Given the description of an element on the screen output the (x, y) to click on. 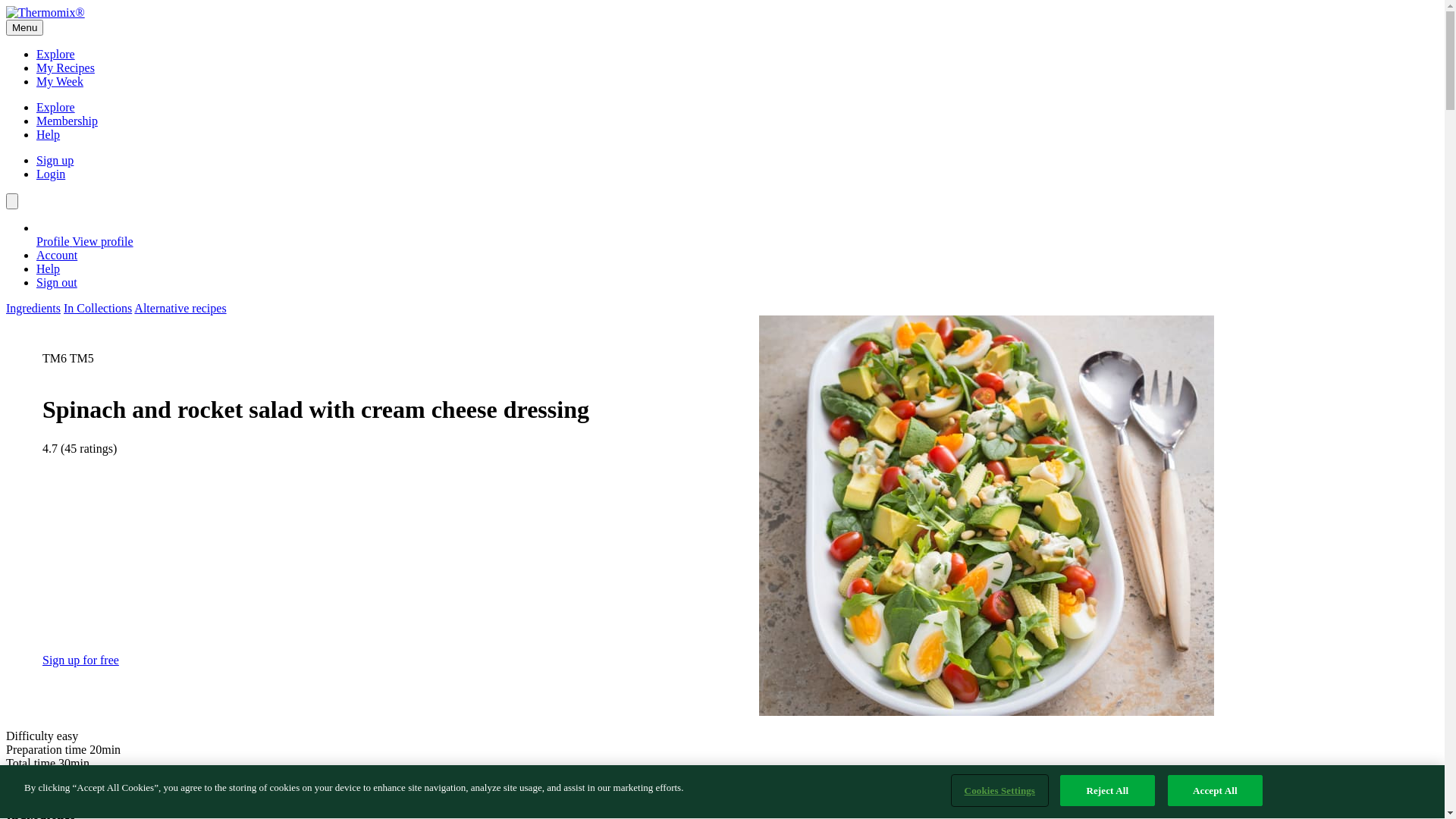
My Week Element type: text (59, 81)
Profile View profile Element type: text (737, 248)
Explore Element type: text (55, 106)
Sign out Element type: text (56, 282)
Accept All Element type: text (1214, 790)
Spinach and rocket salad with cream cheese dressing Element type: hover (985, 515)
Ingredients Element type: text (33, 307)
Membership Element type: text (66, 120)
Help Element type: text (47, 134)
Login Element type: text (50, 173)
Cookies Settings Element type: text (999, 790)
Alternative recipes Element type: text (179, 307)
Help Element type: text (47, 268)
In Collections Element type: text (97, 307)
Account Element type: text (56, 254)
Sign up for free Element type: text (80, 660)
Sign up Element type: text (54, 159)
My Recipes Element type: text (65, 67)
Explore Element type: text (55, 53)
Menu Element type: text (24, 27)
Reject All Element type: text (1107, 790)
